Given the description of an element on the screen output the (x, y) to click on. 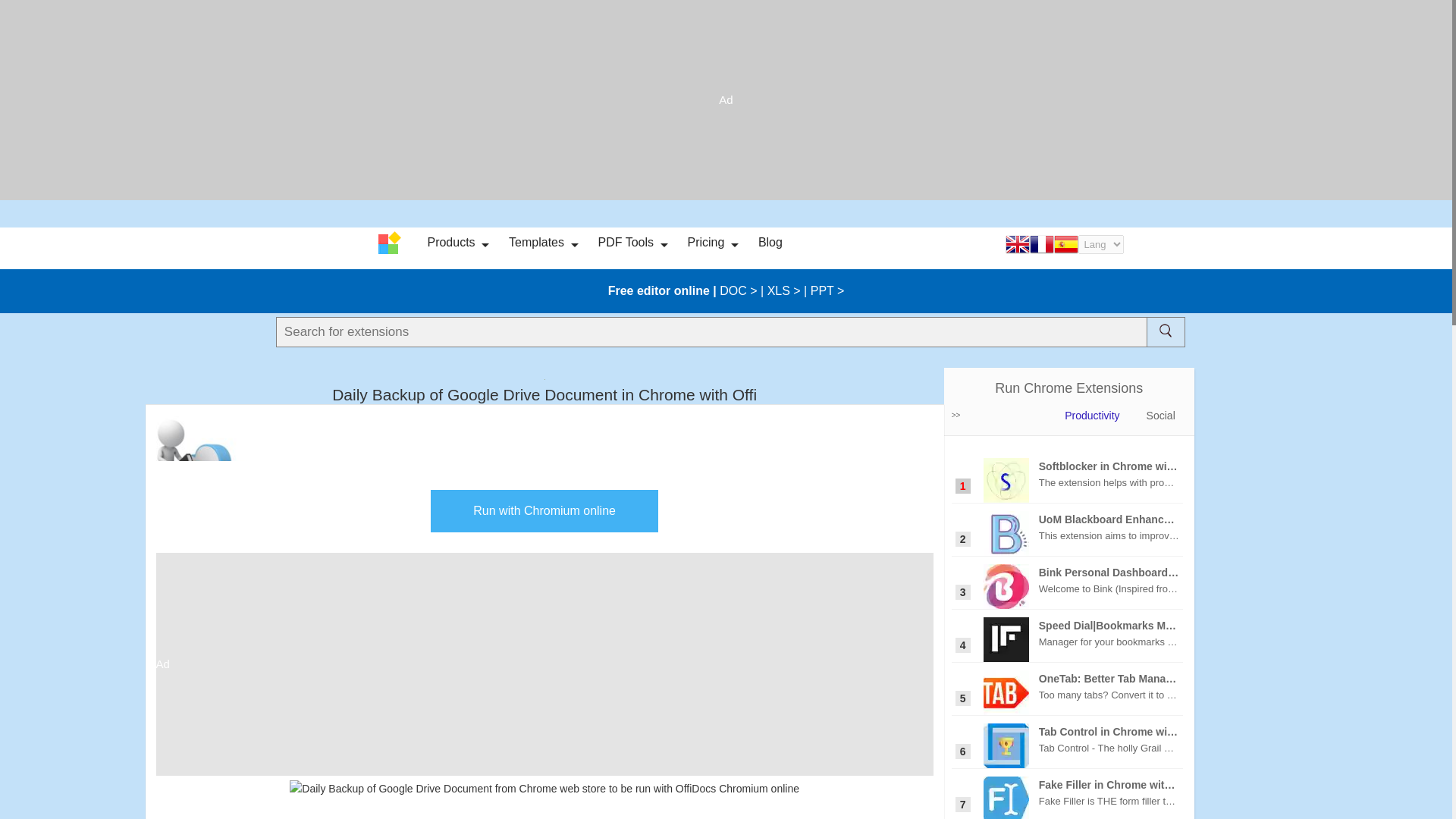
Templates (536, 241)
Products (450, 241)
PDF Tools (624, 241)
OffiDocs Logo (391, 241)
